Given the description of an element on the screen output the (x, y) to click on. 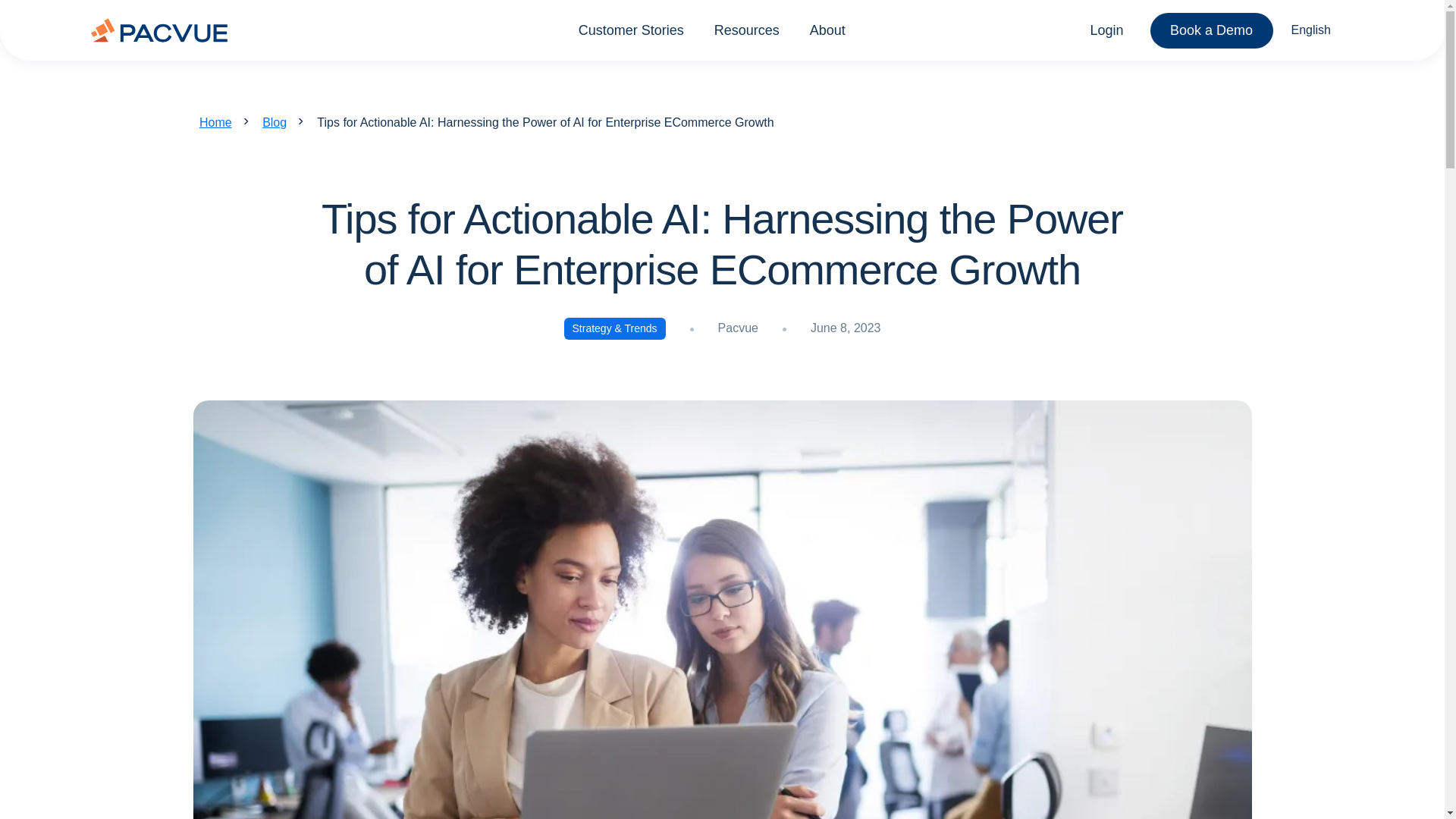
About (827, 29)
Resources (746, 29)
Customer Stories (631, 29)
